Given the description of an element on the screen output the (x, y) to click on. 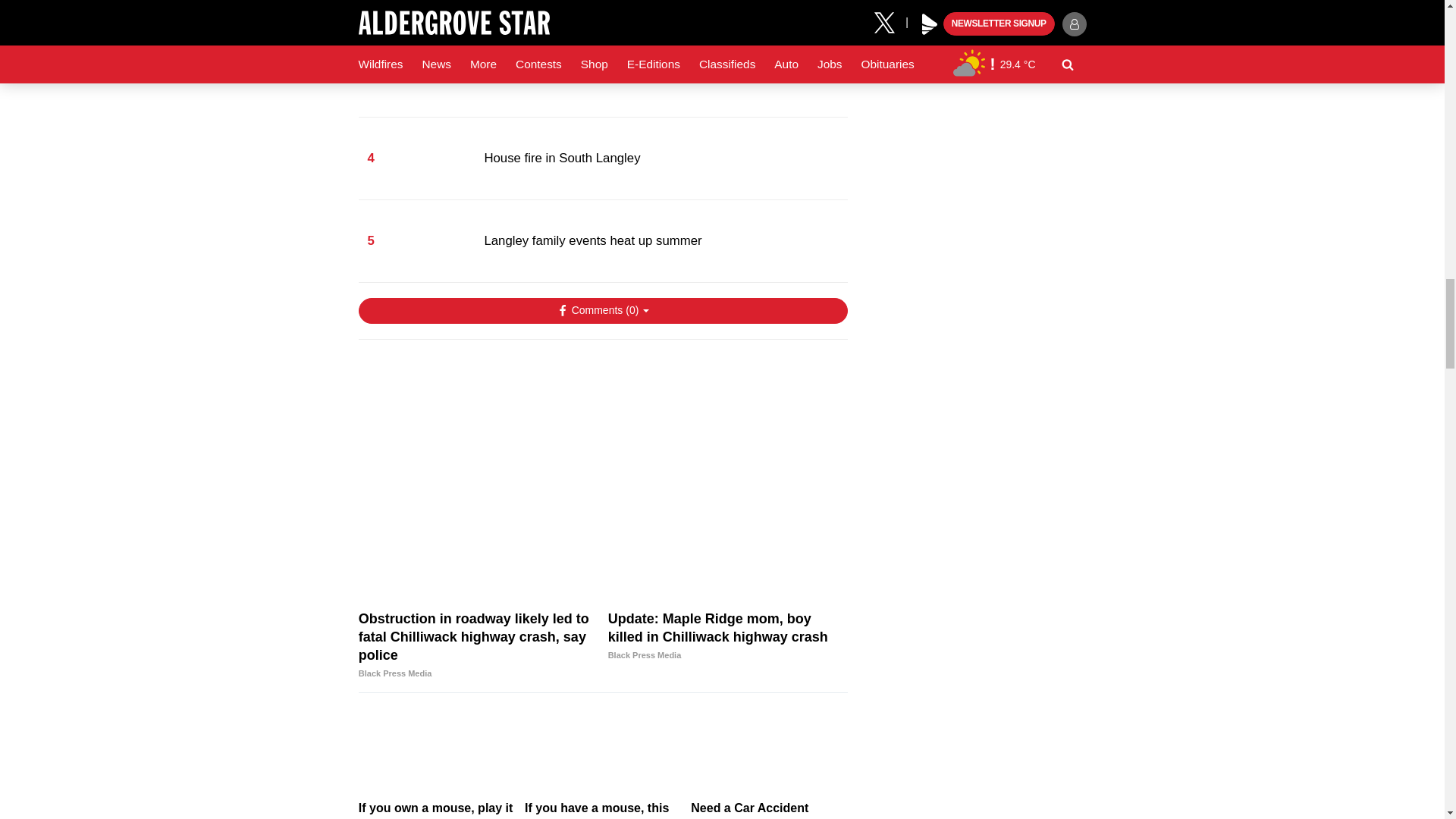
If you own a mouse, play it for 1 minute. (436, 752)
Need a Car Accident Lawyer? Choose Success (768, 752)
Show Comments (602, 310)
If you own a mouse, play it for 1 minute. (436, 809)
